Given the description of an element on the screen output the (x, y) to click on. 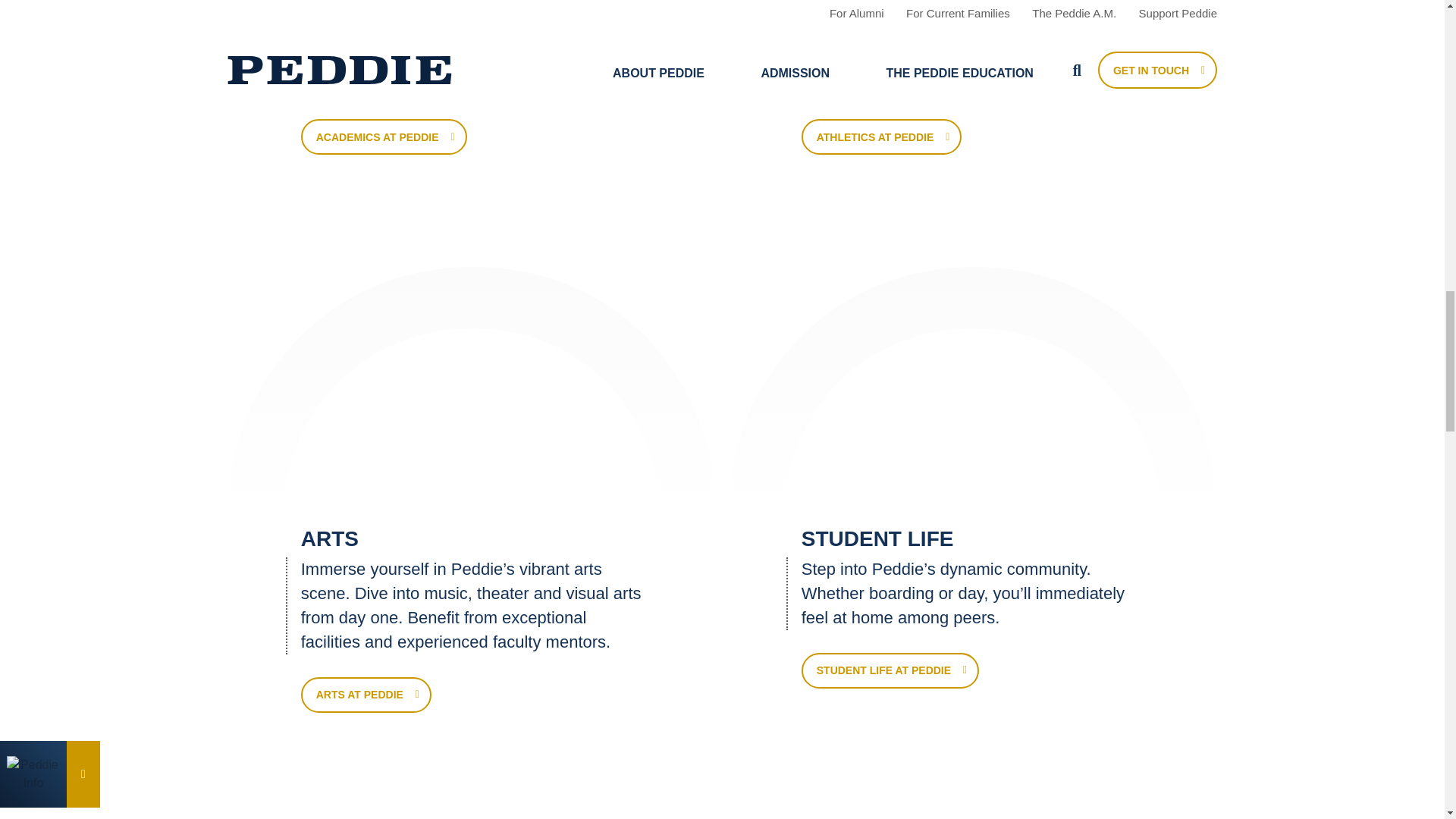
Lunette-Updated (972, 391)
Arch-Image-Mask (471, 420)
Arch-Image-Mask (972, 420)
Lunette-Updated (471, 391)
